Given the description of an element on the screen output the (x, y) to click on. 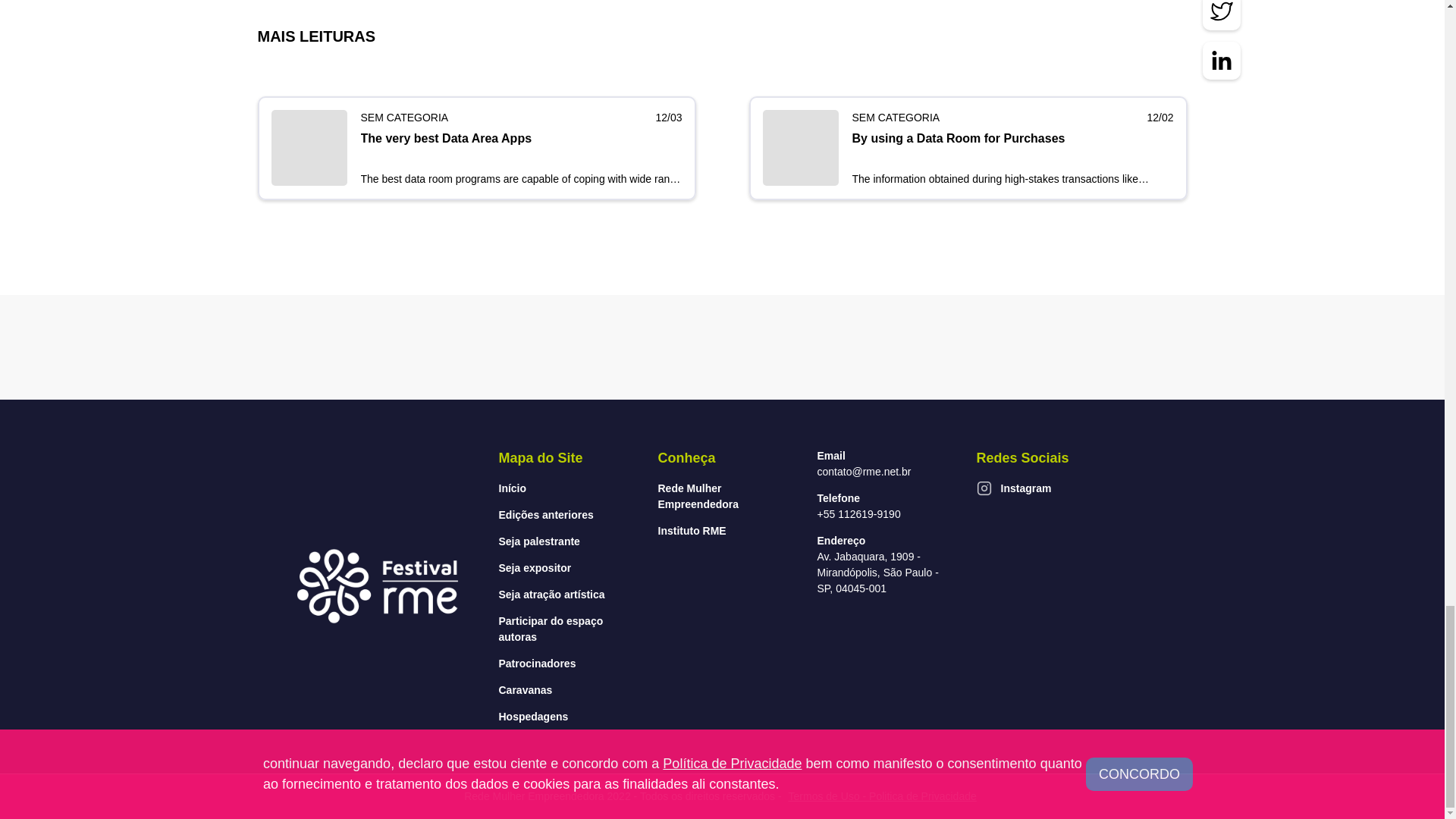
Instagram (983, 488)
